Given the description of an element on the screen output the (x, y) to click on. 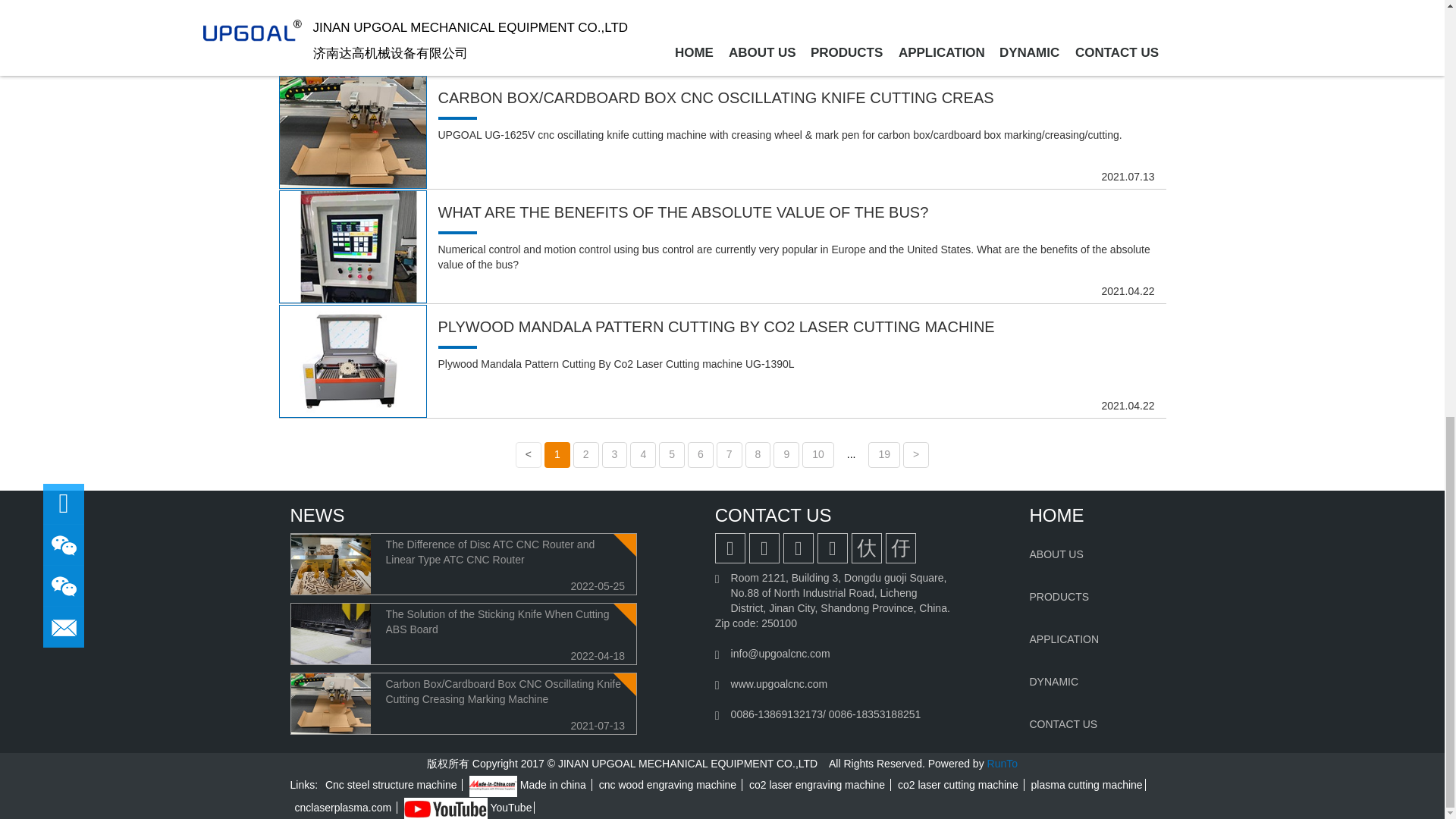
plasma cutting machine (1087, 784)
co2 laser engraving machine (818, 784)
cnc wood engraving machine (669, 784)
cnclaserplasma.com (344, 807)
Next (915, 454)
YouTube (467, 807)
Made in china (492, 785)
Made in china (529, 784)
Cnc steel structure machine (393, 784)
co2 laser cutting machine (960, 784)
